Given the description of an element on the screen output the (x, y) to click on. 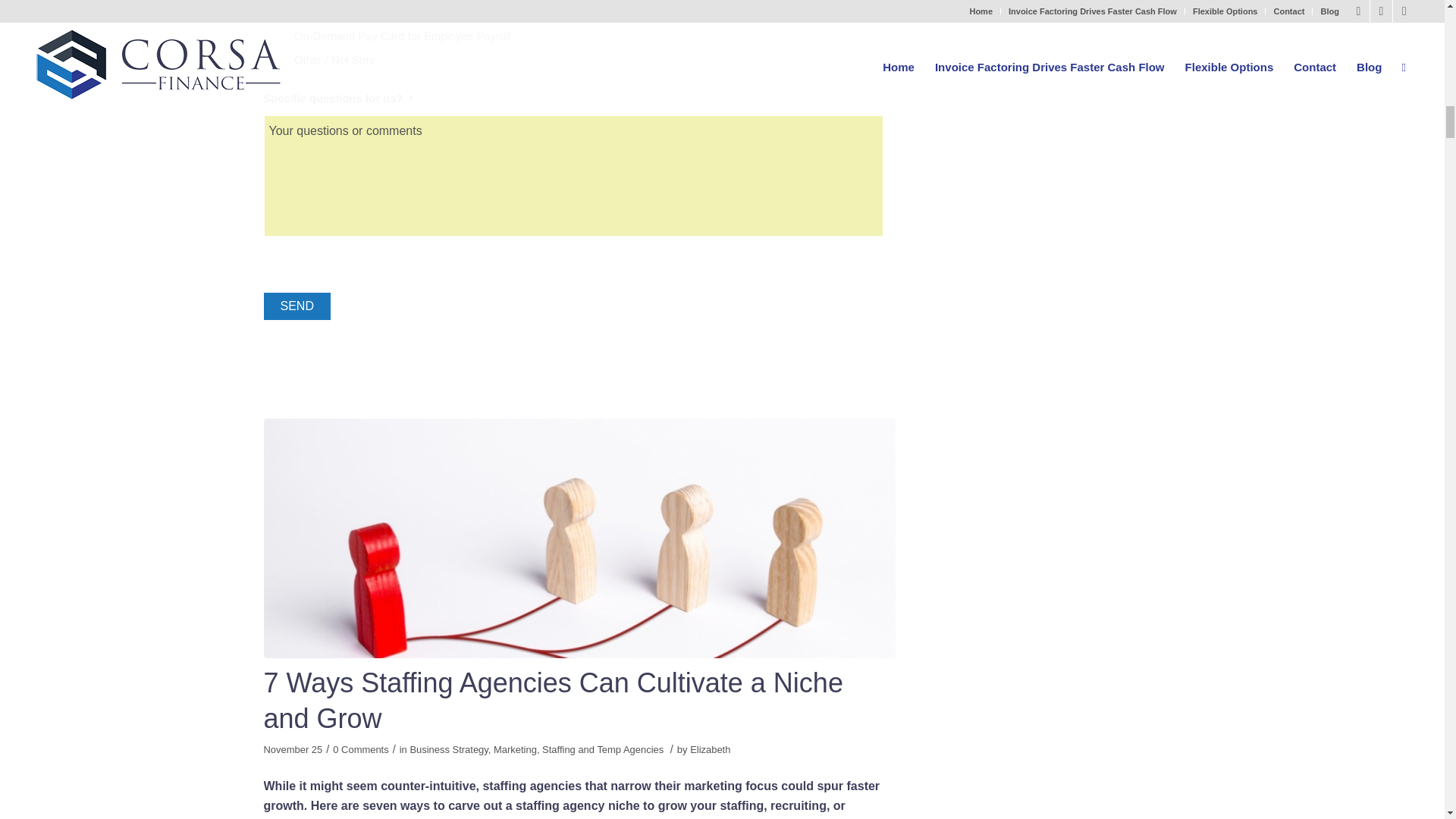
On-Demand Pay Card for Employee Payroll (268, 38)
SEND (296, 306)
Posts by Elizabeth (710, 749)
Credit Card Processing Fees (268, 14)
